Given the description of an element on the screen output the (x, y) to click on. 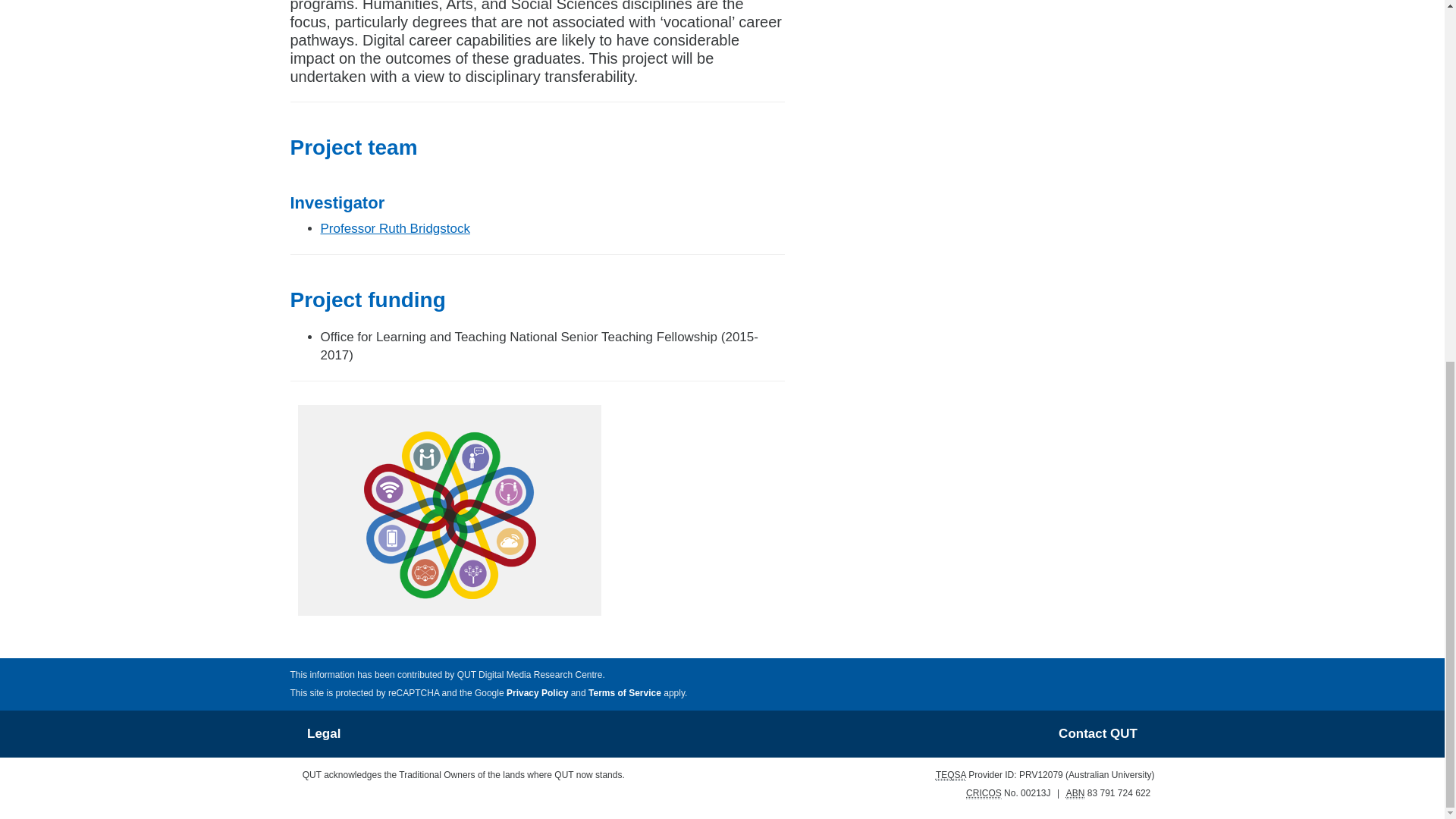
Australian Business Number (1074, 793)
Privacy Policy (536, 692)
Tertiary Education Quality and Standards Agency (951, 775)
Professor Ruth Bridgstock (394, 228)
Terms of Service (624, 692)
